Given the description of an element on the screen output the (x, y) to click on. 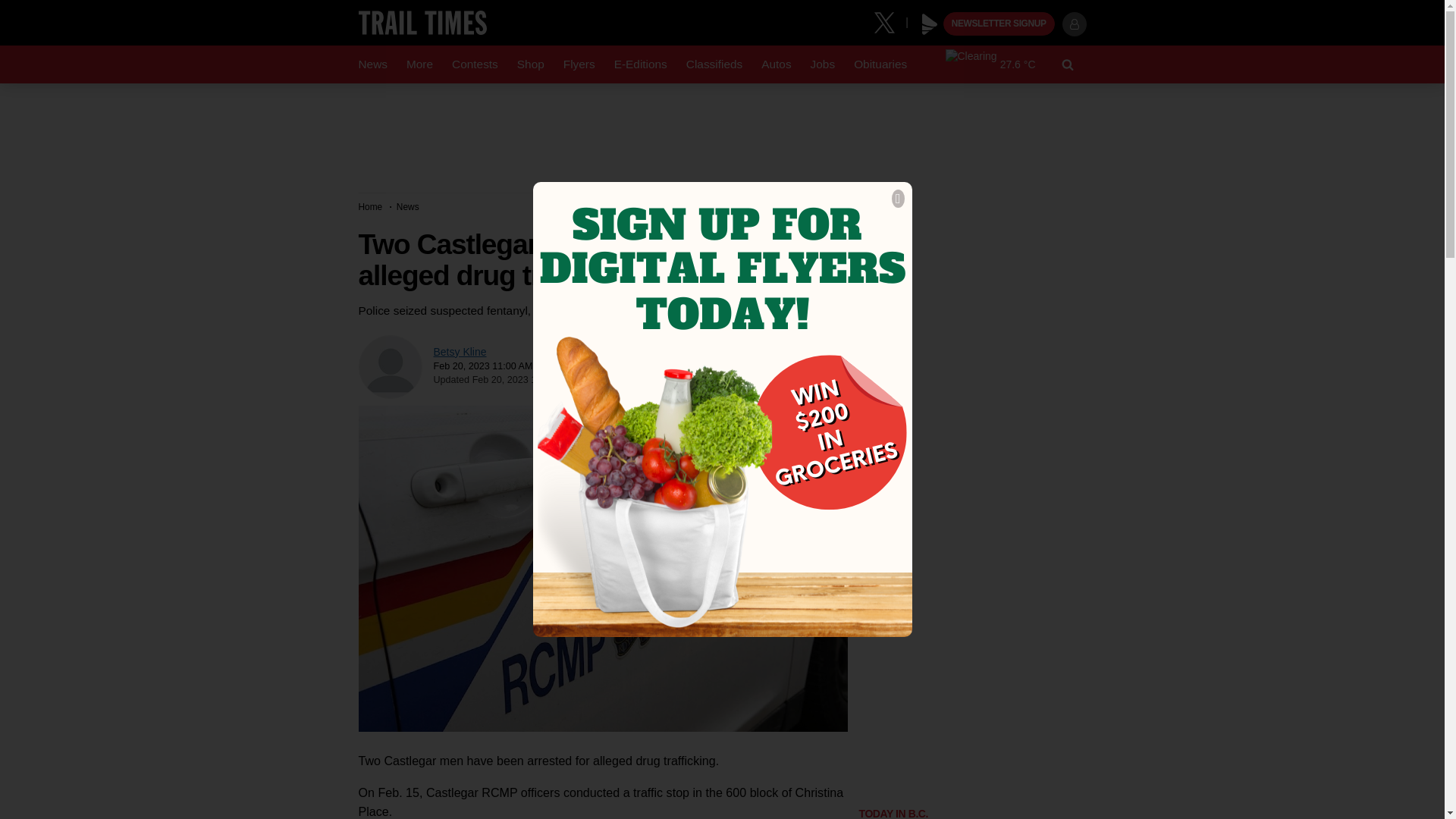
NEWSLETTER SIGNUP (998, 24)
News (372, 64)
X (889, 21)
Black Press Media (929, 24)
Play (929, 24)
